Given the description of an element on the screen output the (x, y) to click on. 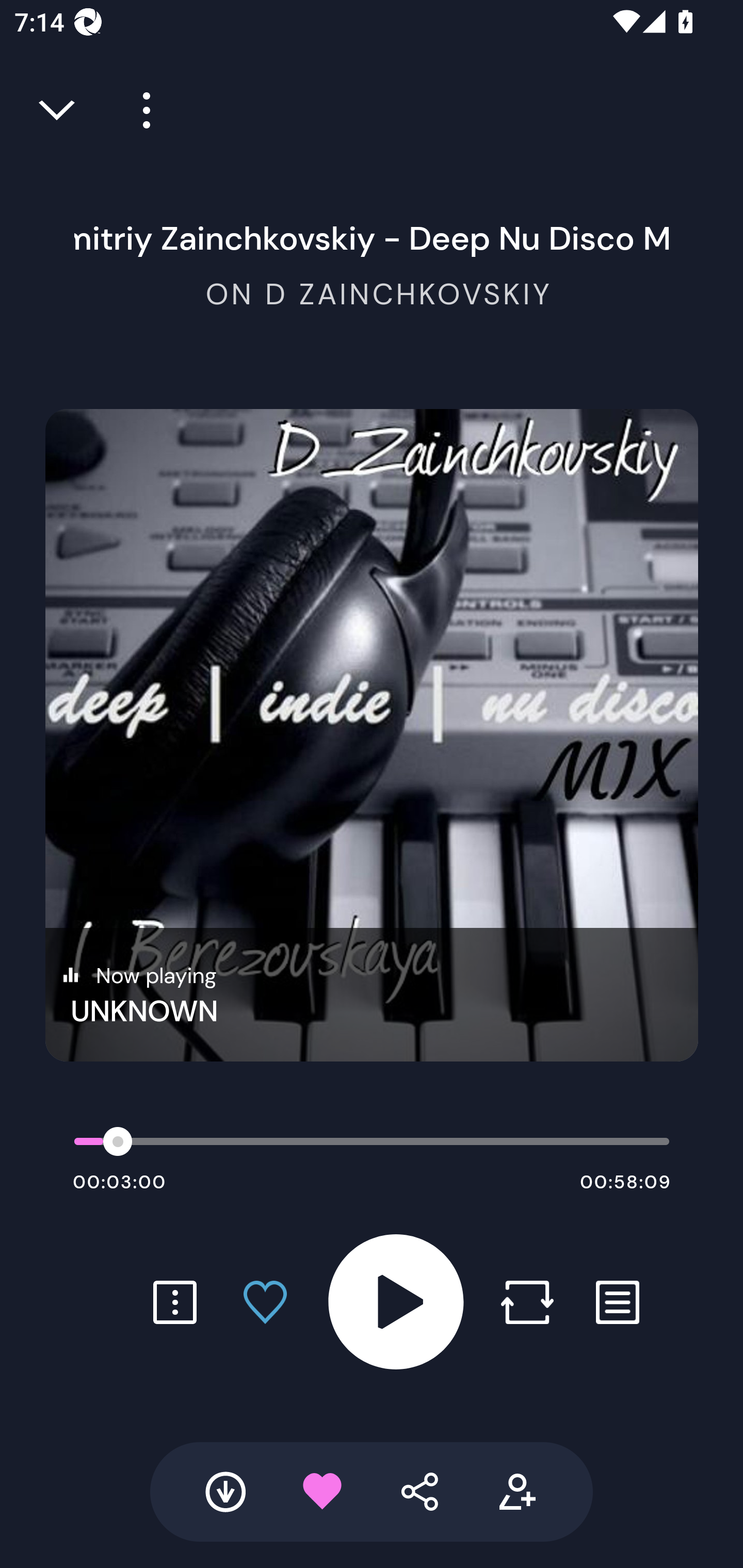
Close full player (58, 110)
Player more options button (139, 110)
Repost button (527, 1301)
